Given the description of an element on the screen output the (x, y) to click on. 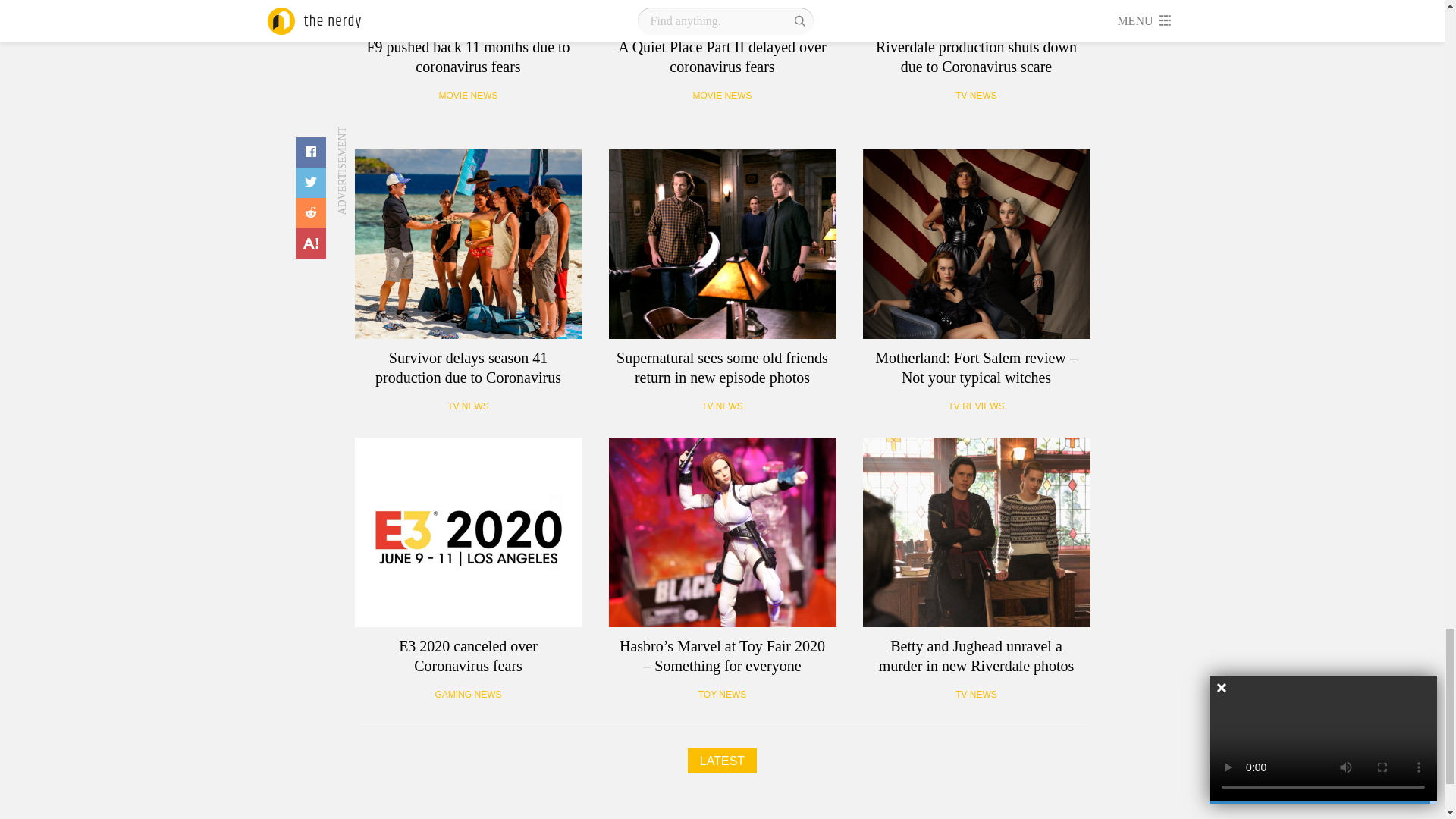
F9 pushed back 11 months due to coronavirus fears (468, 13)
